Given the description of an element on the screen output the (x, y) to click on. 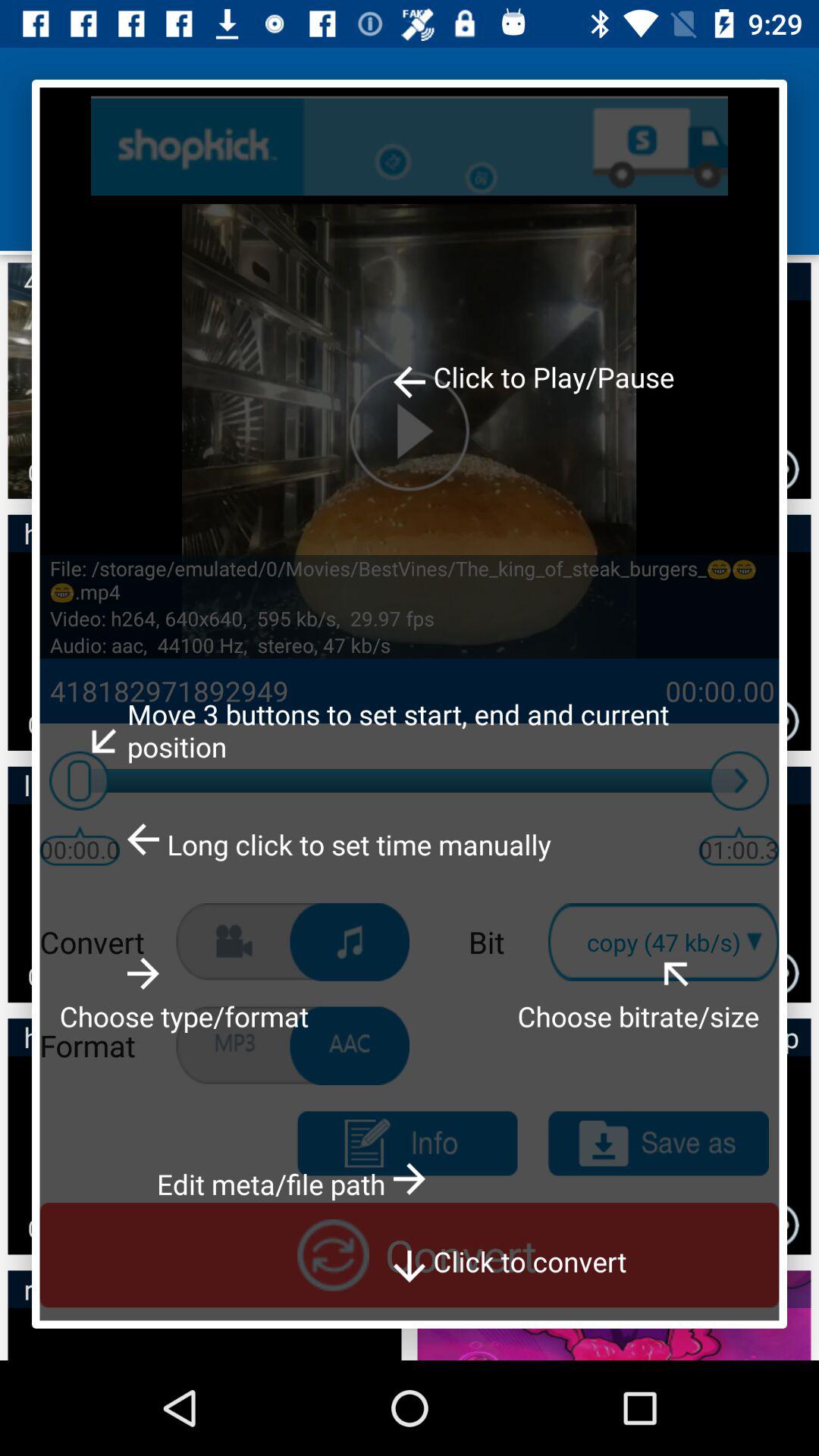
convert audio (349, 942)
